Given the description of an element on the screen output the (x, y) to click on. 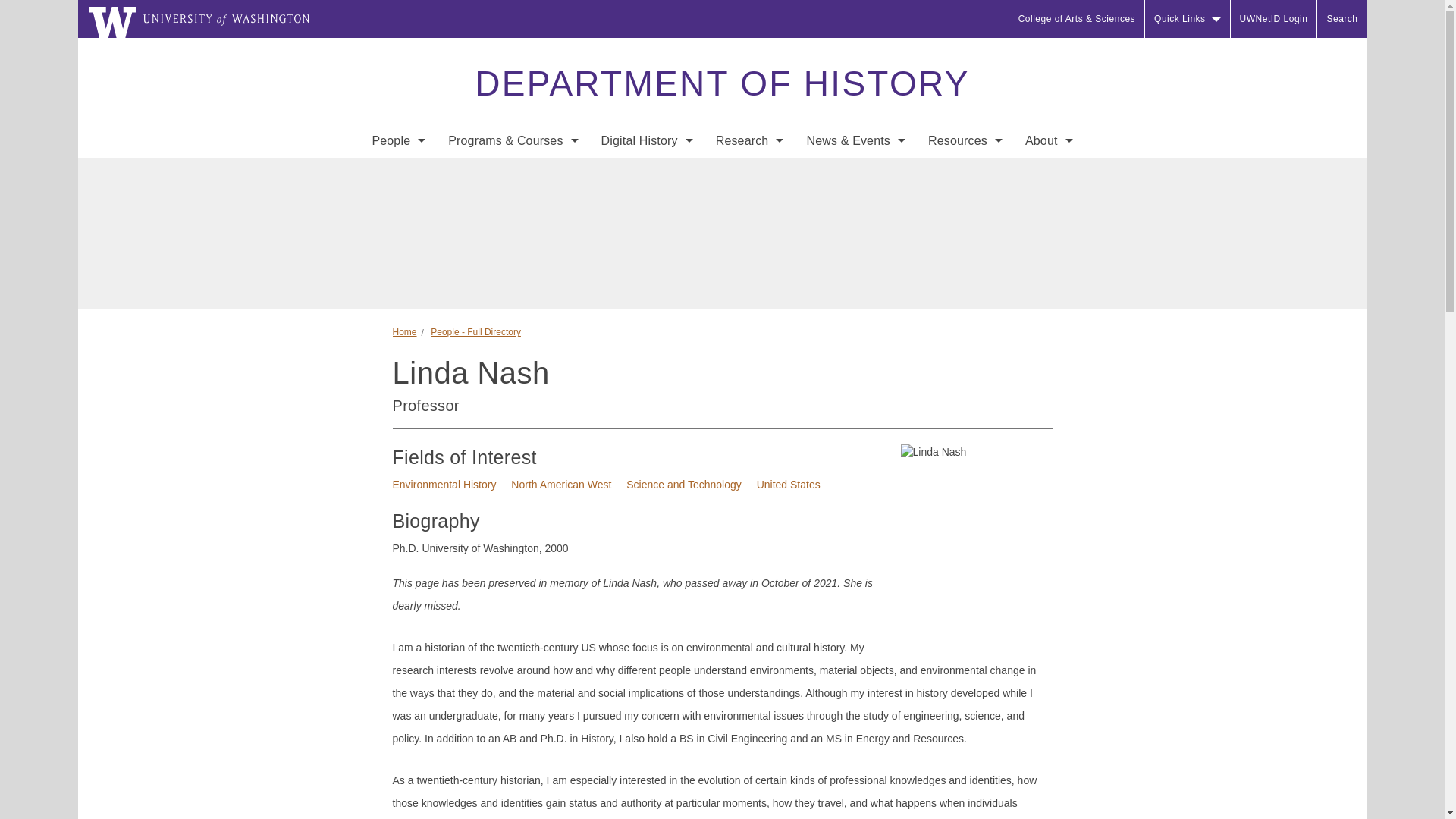
People (397, 140)
Staff (397, 233)
Faculty (397, 203)
In Memoriam (397, 294)
Department of History Home (721, 83)
DEPARTMENT OF HISTORY (721, 83)
Alumni (397, 324)
Search (1342, 18)
Undergraduate (512, 173)
